Given the description of an element on the screen output the (x, y) to click on. 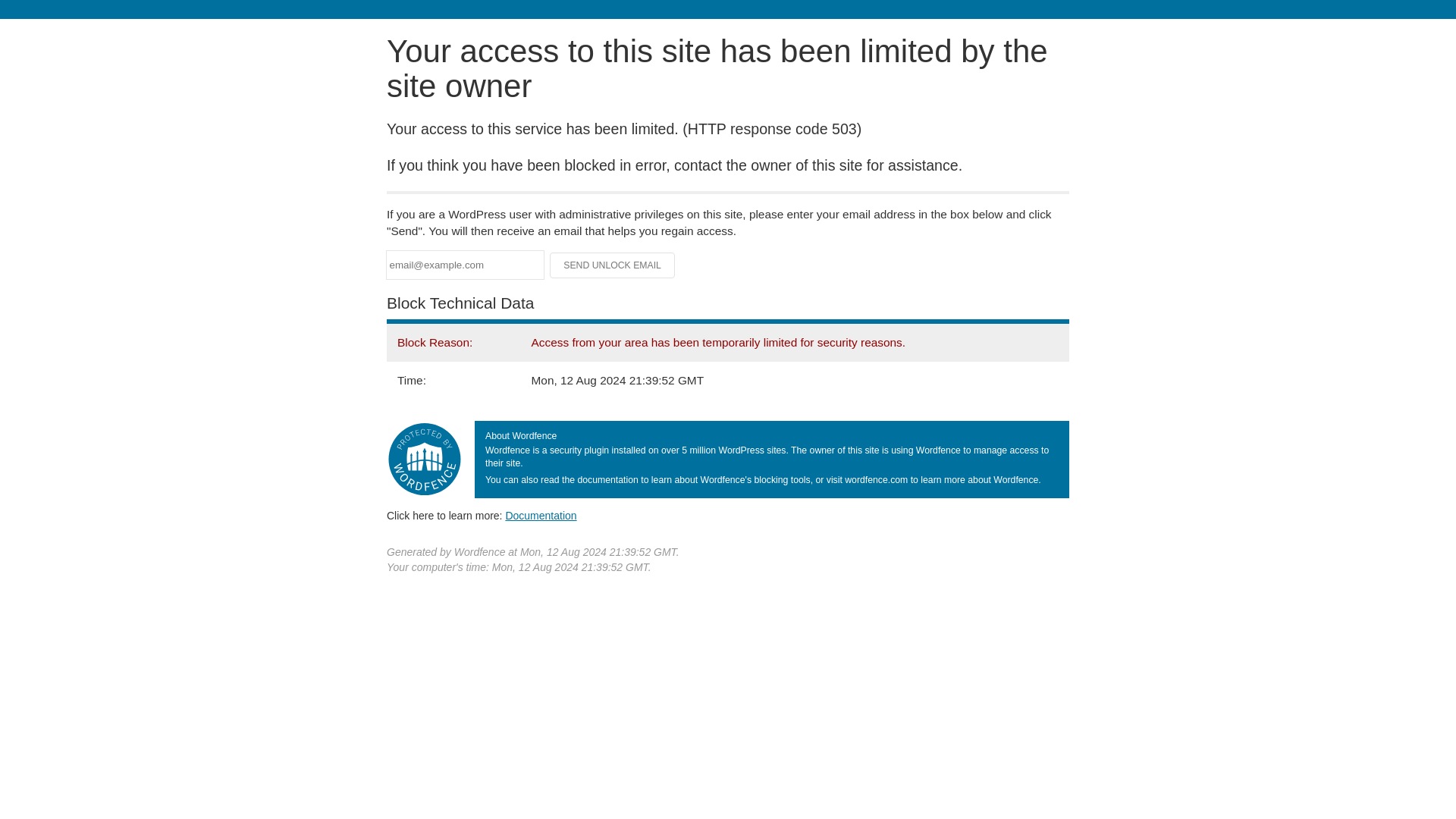
Send Unlock Email (612, 265)
Send Unlock Email (612, 265)
Documentation (540, 515)
